Given the description of an element on the screen output the (x, y) to click on. 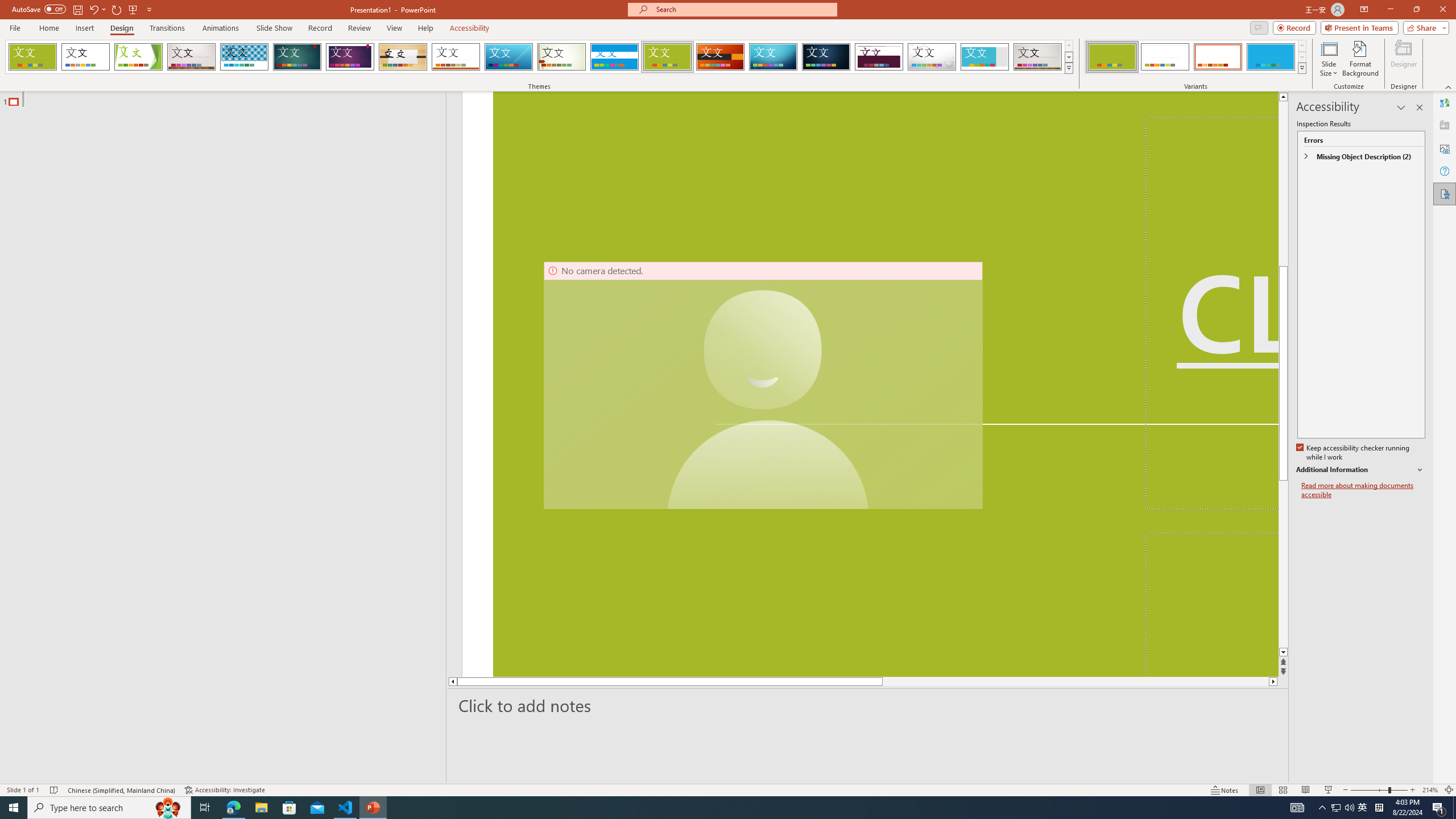
Themes (1068, 67)
Basis (667, 56)
Basis Variant 2 (1164, 56)
Dividend (879, 56)
Basis Variant 4 (1270, 56)
